Given the description of an element on the screen output the (x, y) to click on. 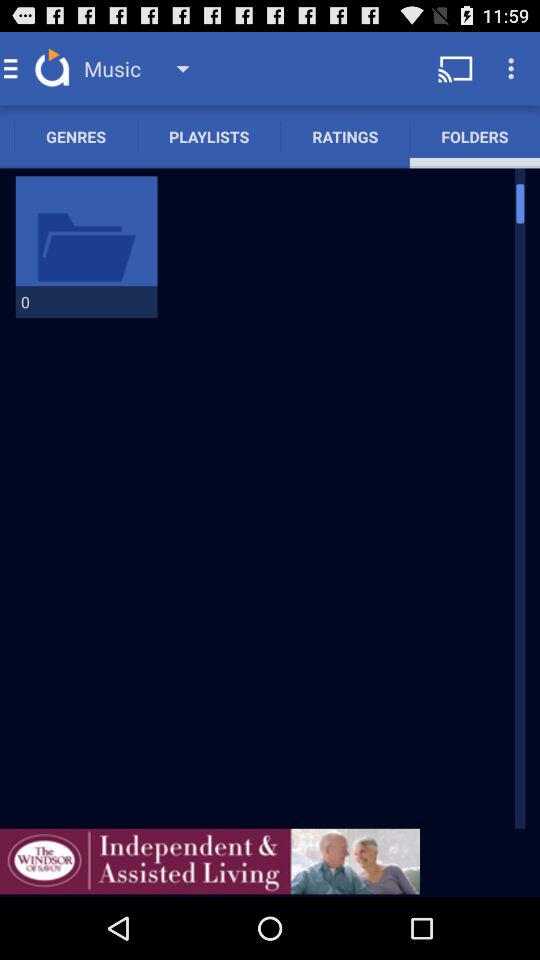
know about the advertisement (210, 861)
